Given the description of an element on the screen output the (x, y) to click on. 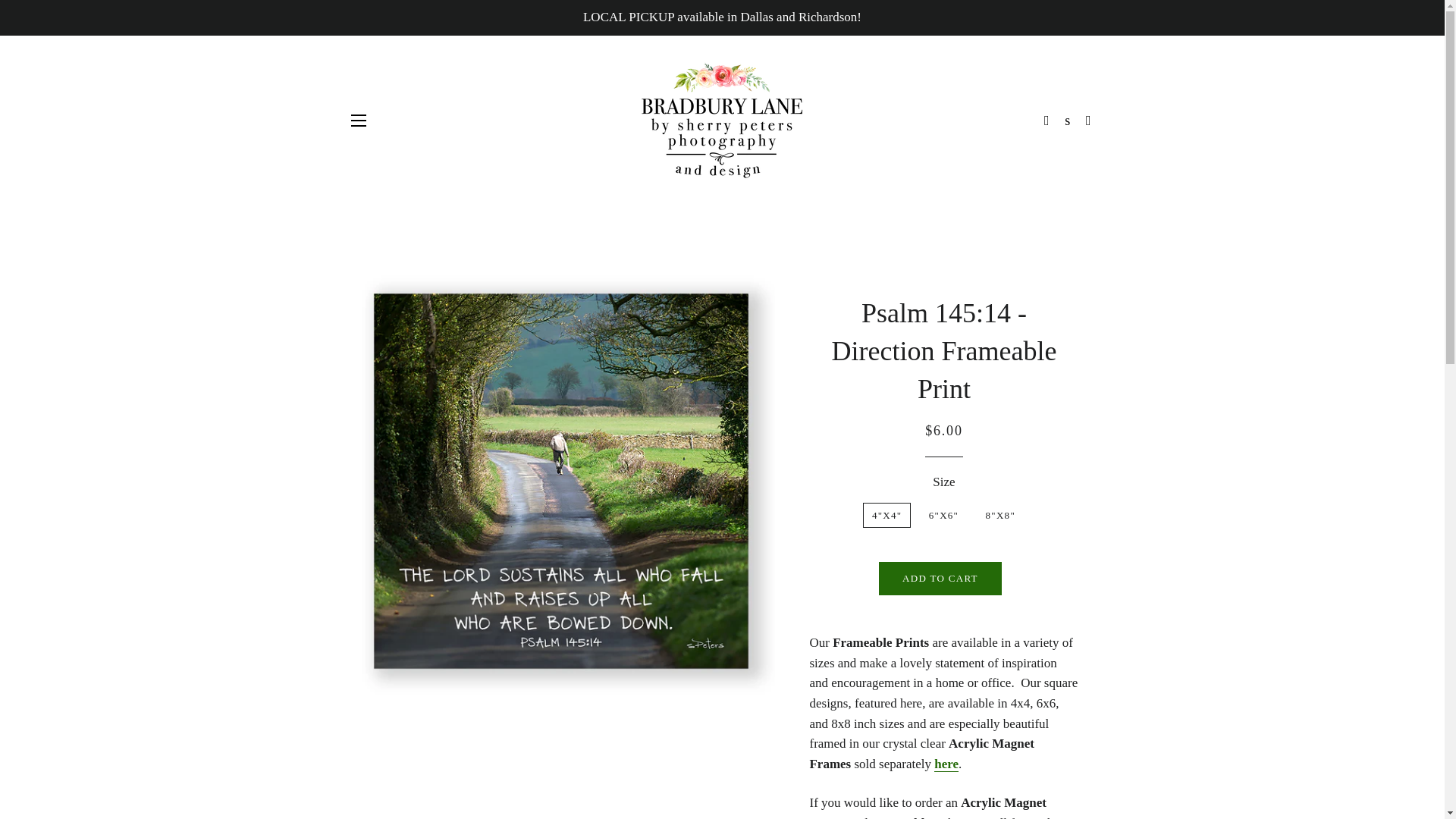
Acrylic Magnet Frames (946, 764)
